Given the description of an element on the screen output the (x, y) to click on. 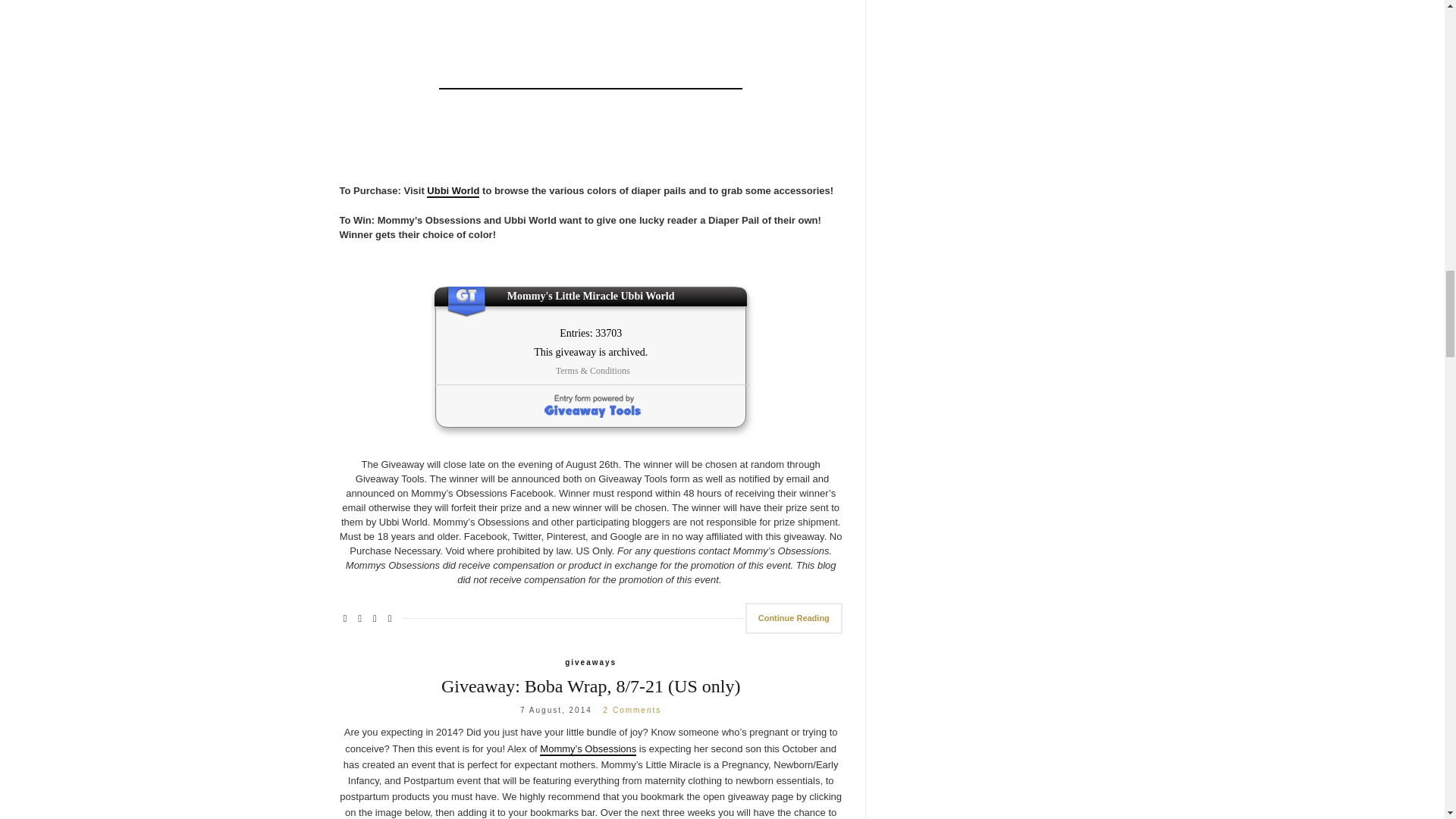
Ubbi World (452, 191)
